Given the description of an element on the screen output the (x, y) to click on. 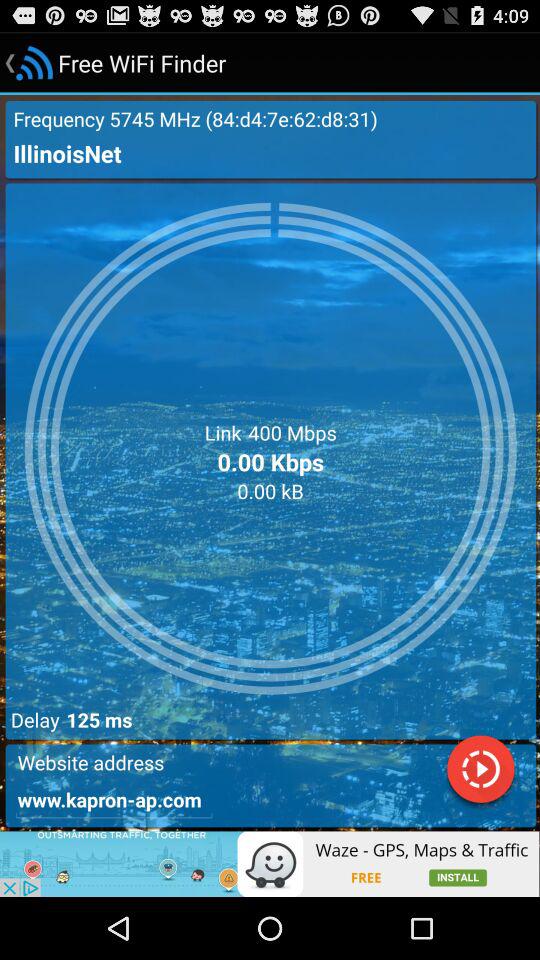
go to play option (480, 772)
